Given the description of an element on the screen output the (x, y) to click on. 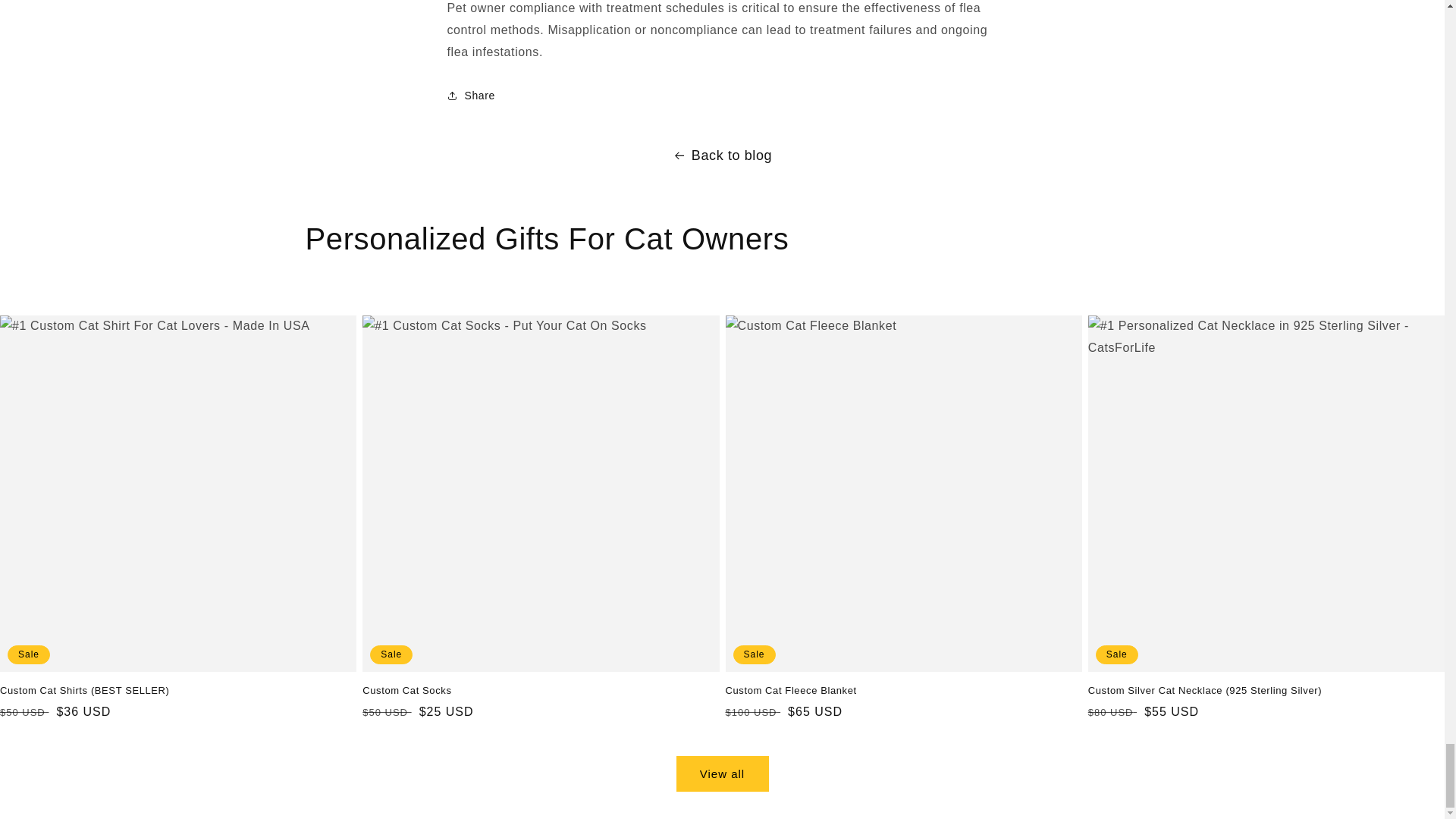
Custom Cat Socks (540, 690)
Custom Cat Fleece Blanket (903, 690)
